Given the description of an element on the screen output the (x, y) to click on. 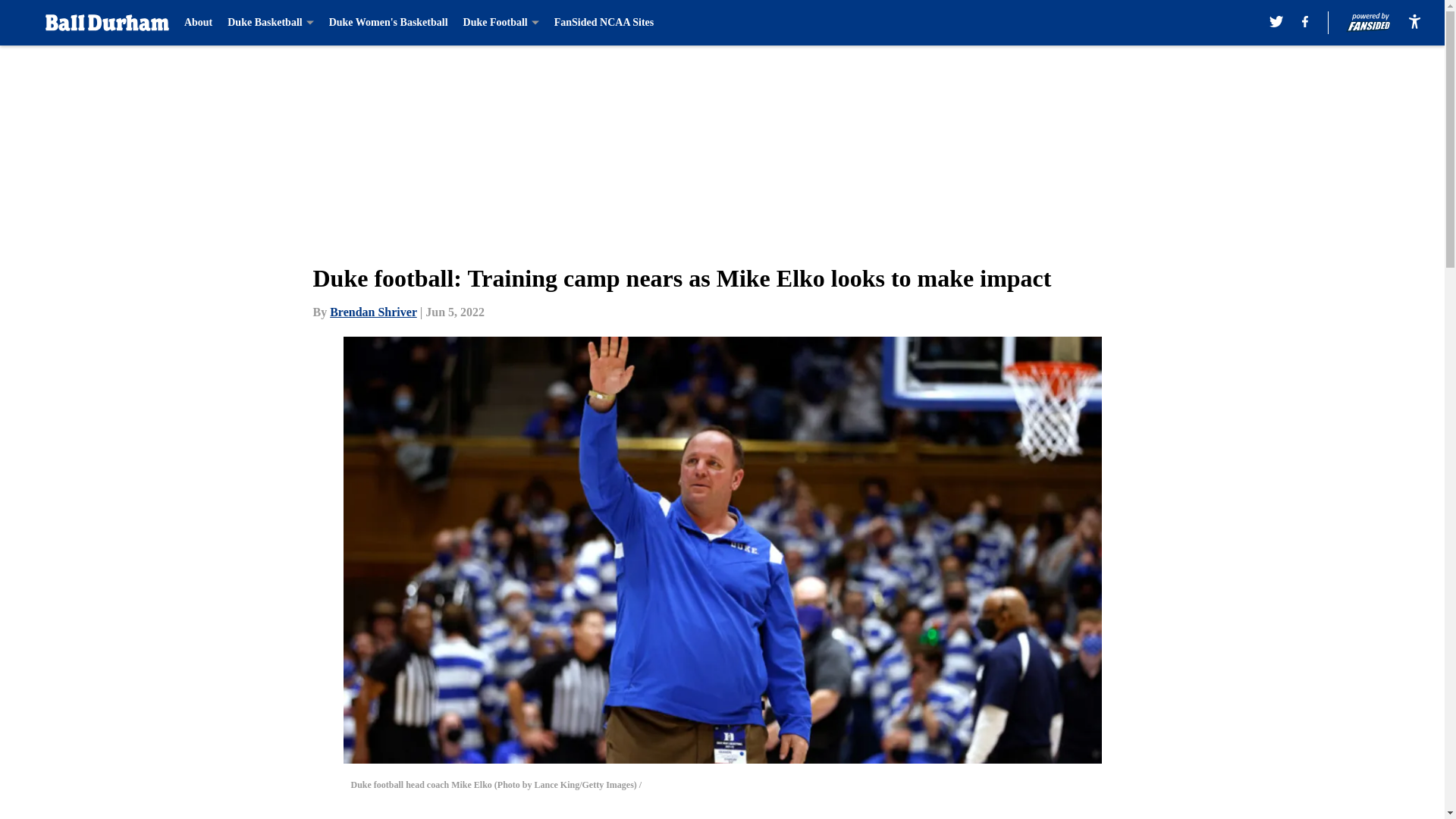
Brendan Shriver (373, 311)
Duke Women's Basketball (388, 22)
FanSided NCAA Sites (603, 22)
About (198, 22)
